Given the description of an element on the screen output the (x, y) to click on. 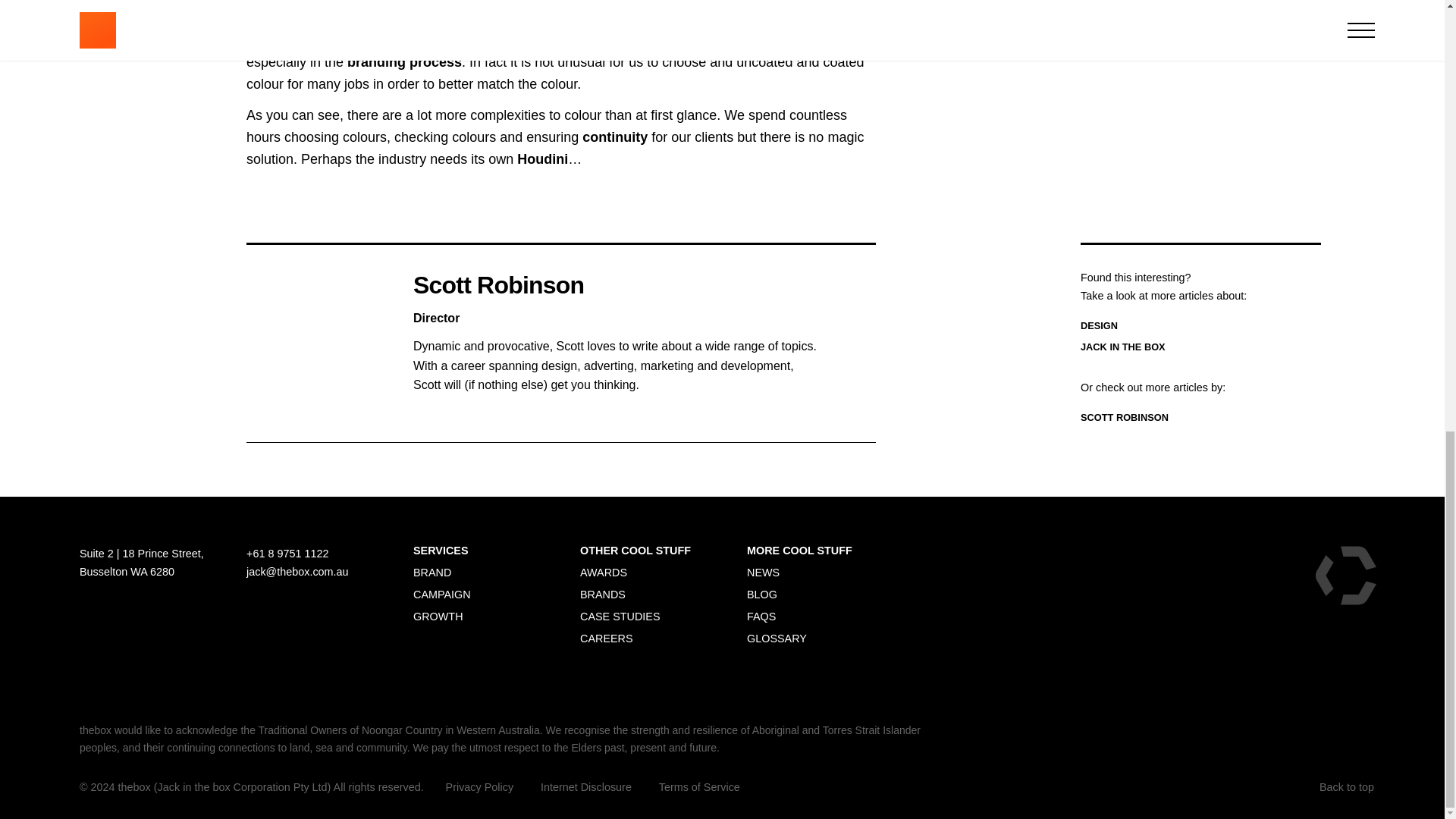
AWARDS (603, 572)
GROWTH (437, 616)
BRAND (431, 572)
DESIGN (1099, 325)
JACK IN THE BOX (1123, 346)
BRANDS (602, 594)
SCOTT ROBINSON (1124, 417)
CAMPAIGN (441, 594)
